Given the description of an element on the screen output the (x, y) to click on. 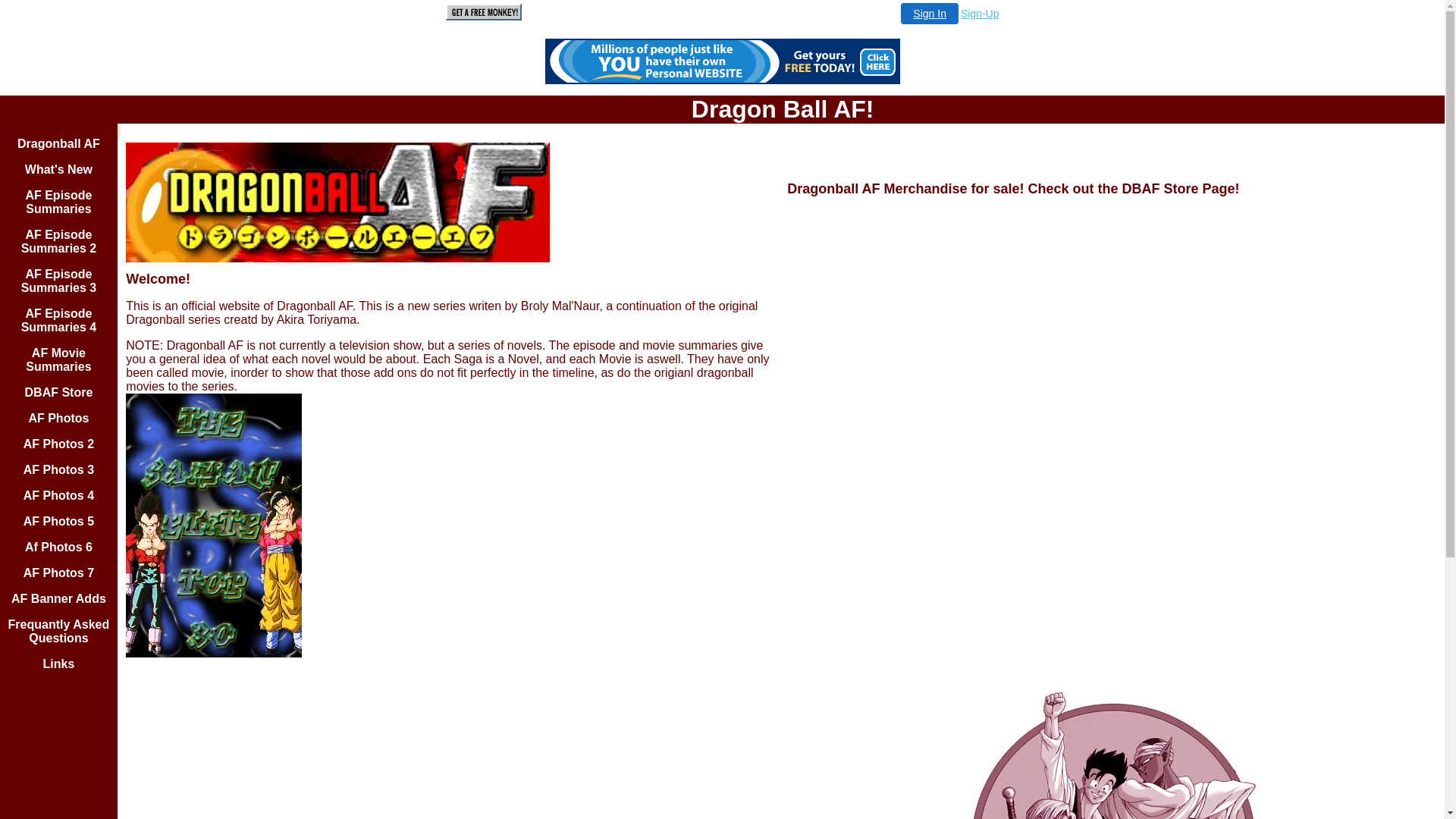
Sign-Up Element type: text (979, 13)
Sign In Element type: text (929, 13)
